Given the description of an element on the screen output the (x, y) to click on. 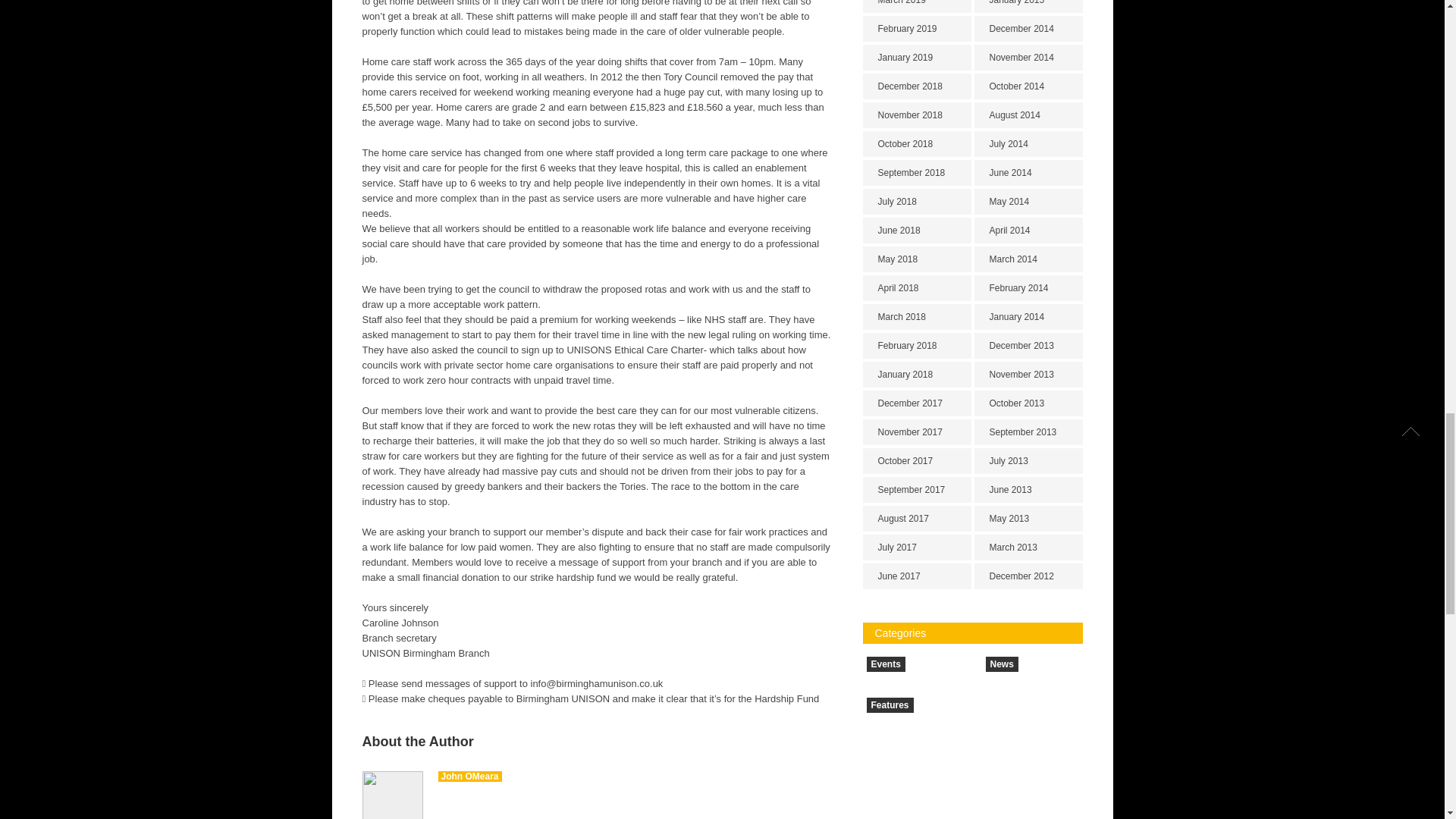
John OMeara (470, 776)
Posts by John OMeara (470, 776)
